Given the description of an element on the screen output the (x, y) to click on. 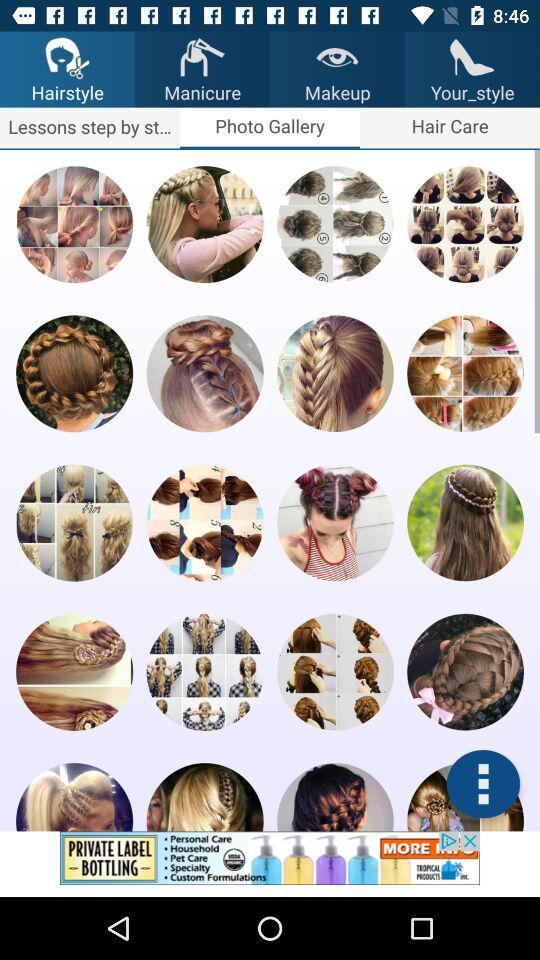
photo editing app (204, 797)
